Given the description of an element on the screen output the (x, y) to click on. 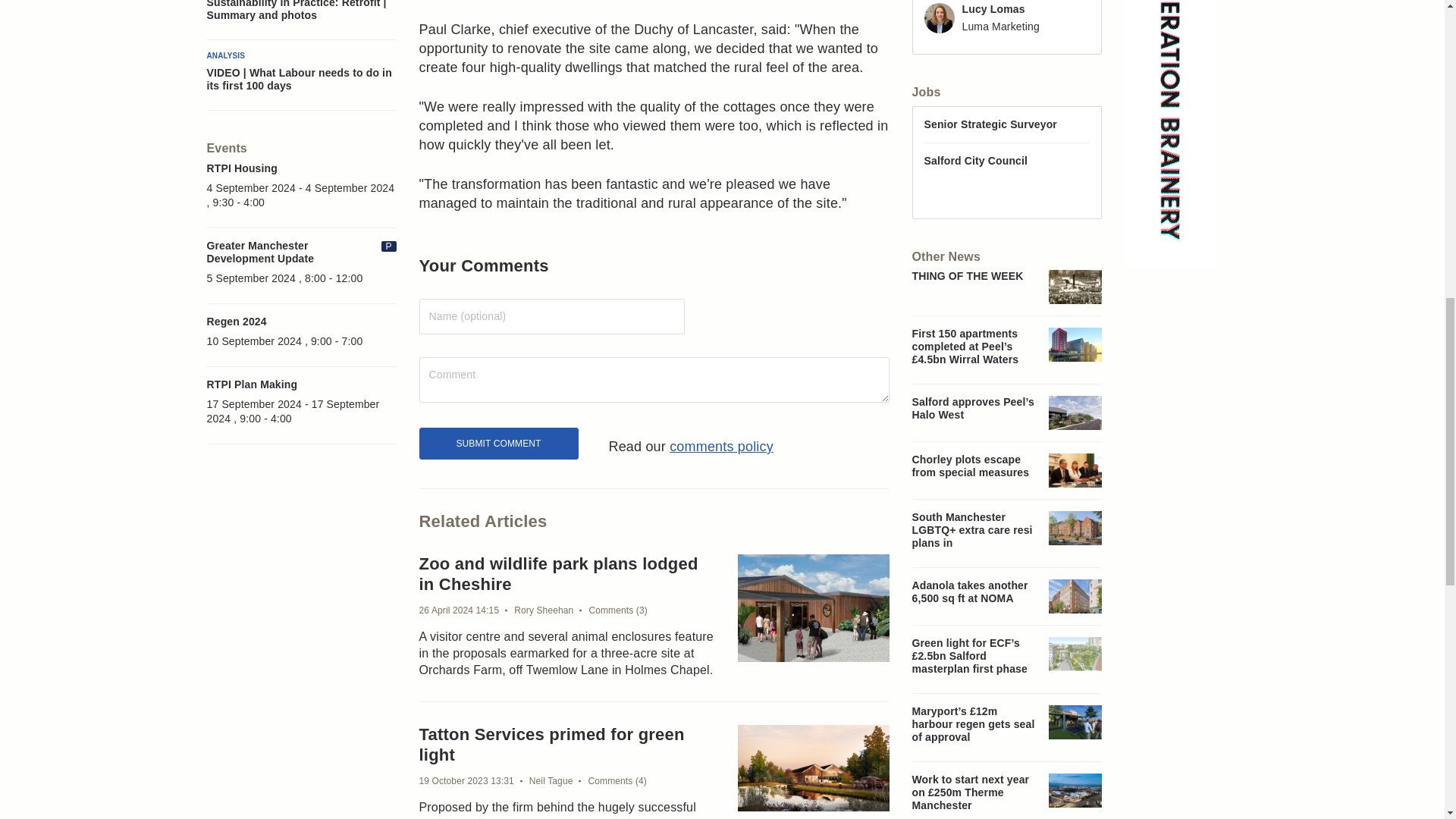
Submit Comment (498, 443)
